Given the description of an element on the screen output the (x, y) to click on. 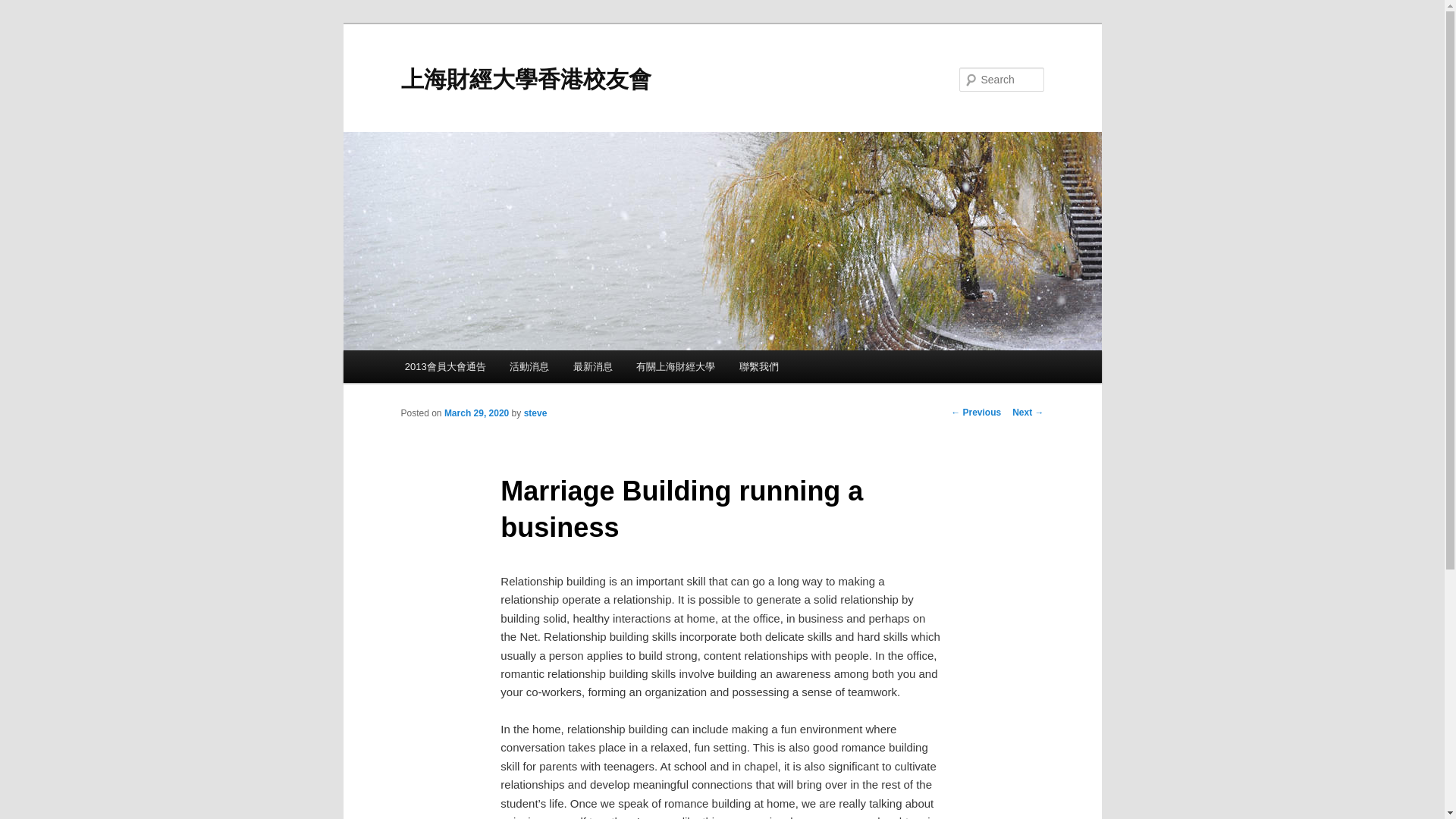
8:00 am (476, 412)
steve (535, 412)
View all posts by steve (535, 412)
Search (24, 8)
March 29, 2020 (476, 412)
